Given the description of an element on the screen output the (x, y) to click on. 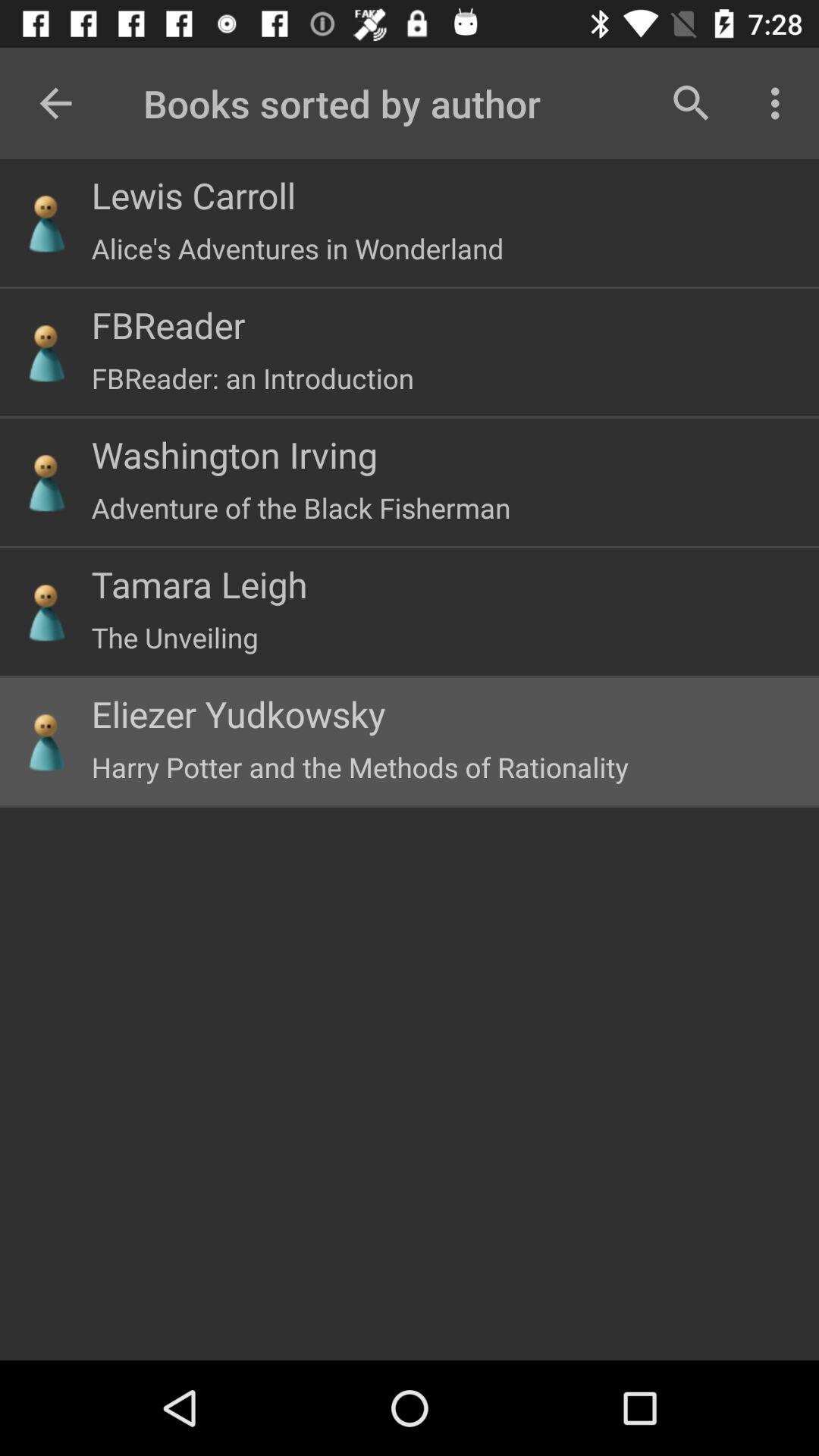
scroll to eliezer yudkowsky (238, 713)
